Given the description of an element on the screen output the (x, y) to click on. 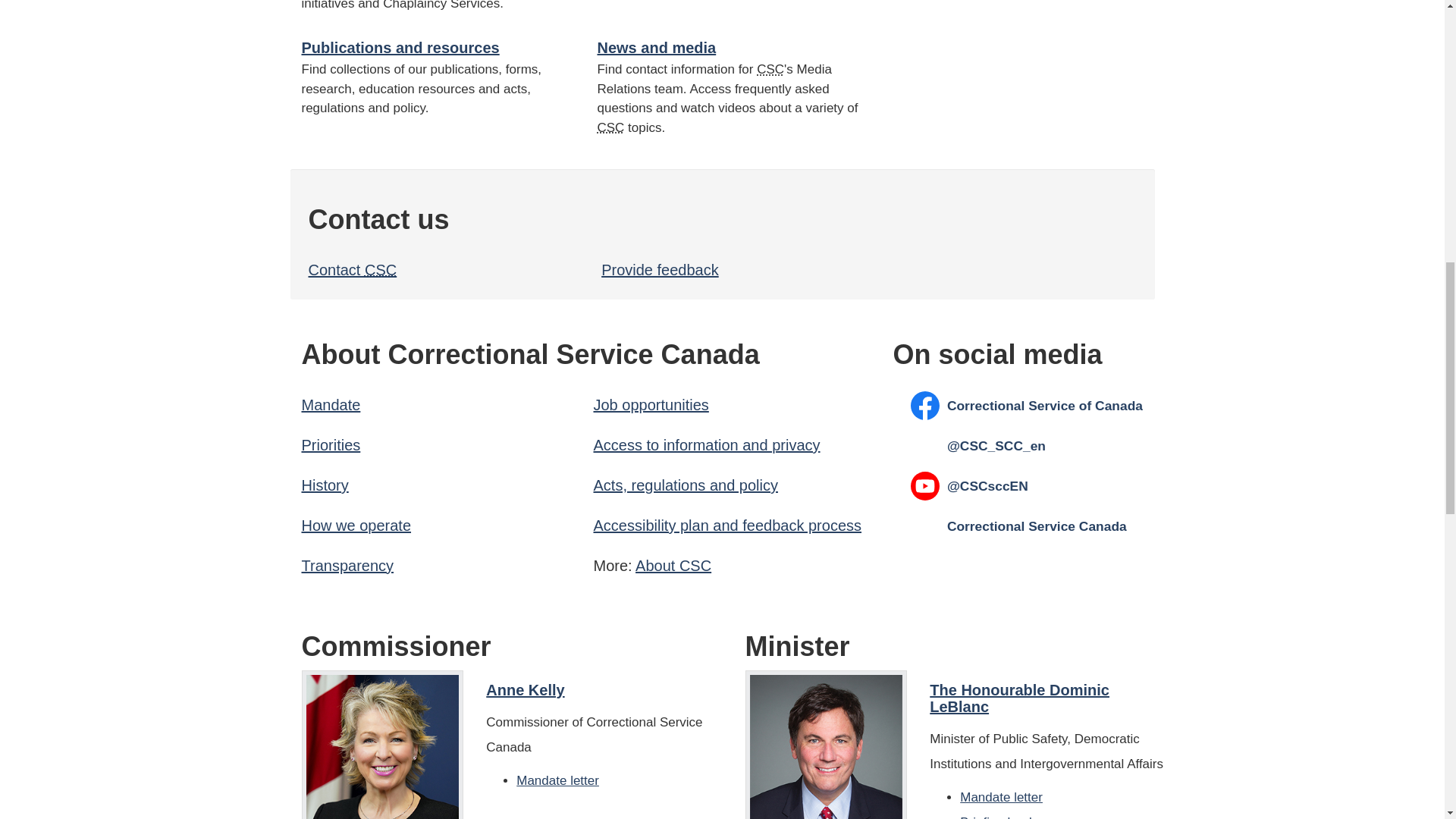
Correctional Service Canada (380, 269)
Correctional Service Canada (610, 127)
Provide feedback (660, 269)
Correctional Service Canada (770, 69)
News and media (656, 47)
Correctional Service Canada (695, 565)
Publications and resources (400, 47)
Contact CSC (351, 269)
Priorities (331, 444)
Mandate (331, 404)
